Given the description of an element on the screen output the (x, y) to click on. 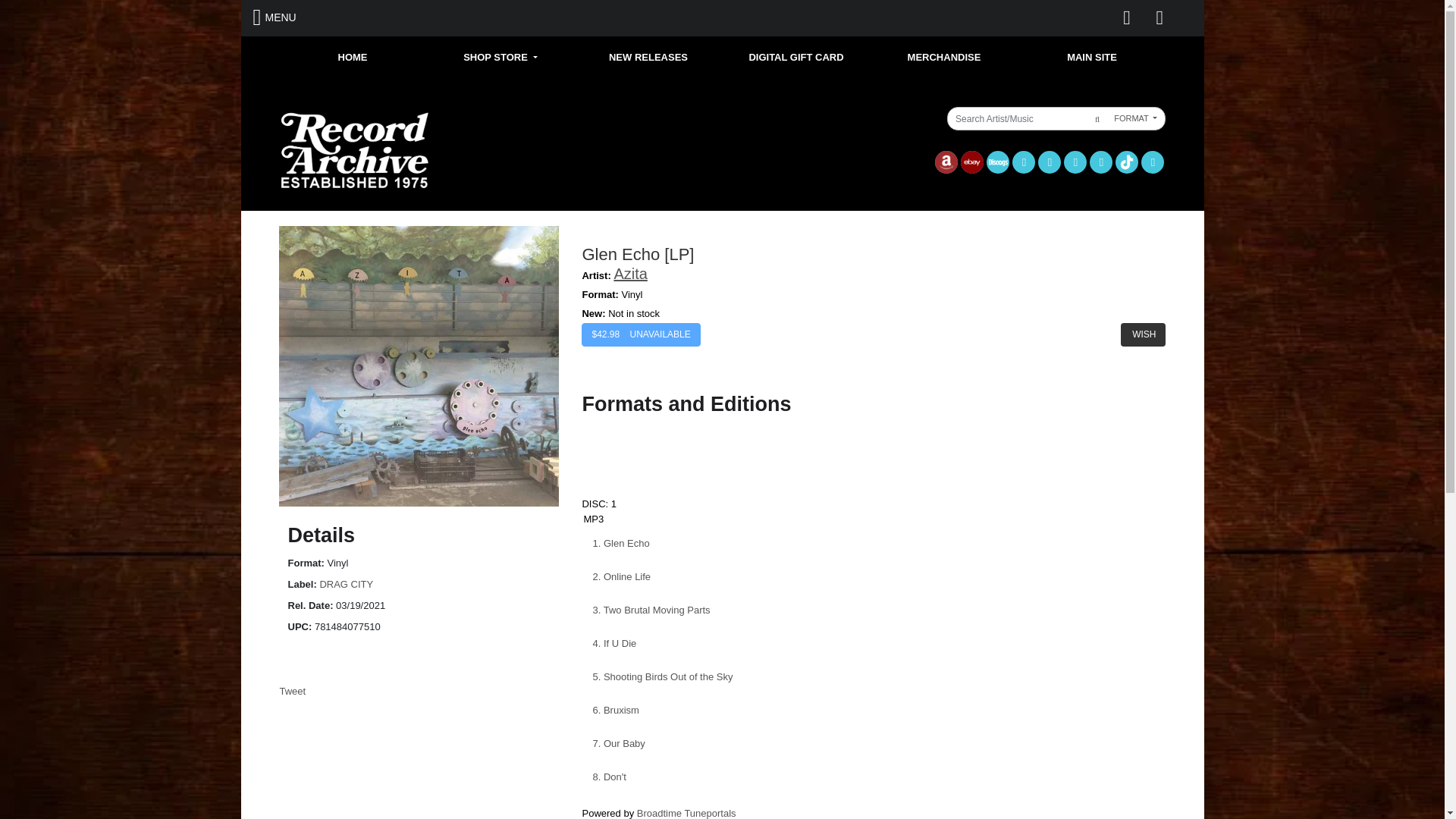
HOME (352, 57)
MENU (274, 17)
SHOP STORE (499, 57)
Search (1094, 118)
